Given the description of an element on the screen output the (x, y) to click on. 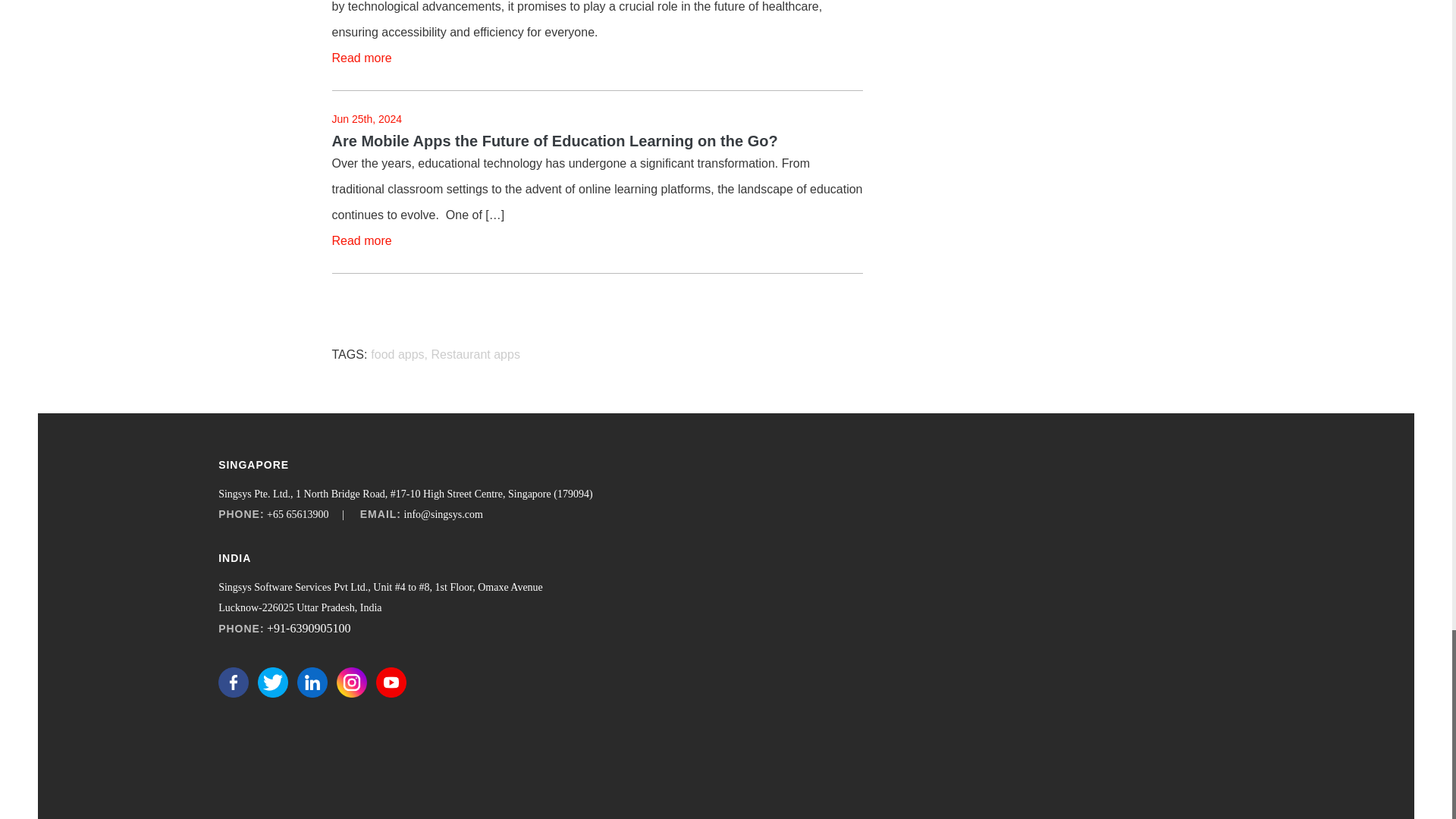
Are Mobile Apps the Future of Education Learning on the Go? (597, 140)
LinkedIn (312, 682)
YouTube (390, 682)
Facebook (233, 682)
Instagram (351, 682)
Twitter (272, 682)
Pinterest (429, 682)
